Given the description of an element on the screen output the (x, y) to click on. 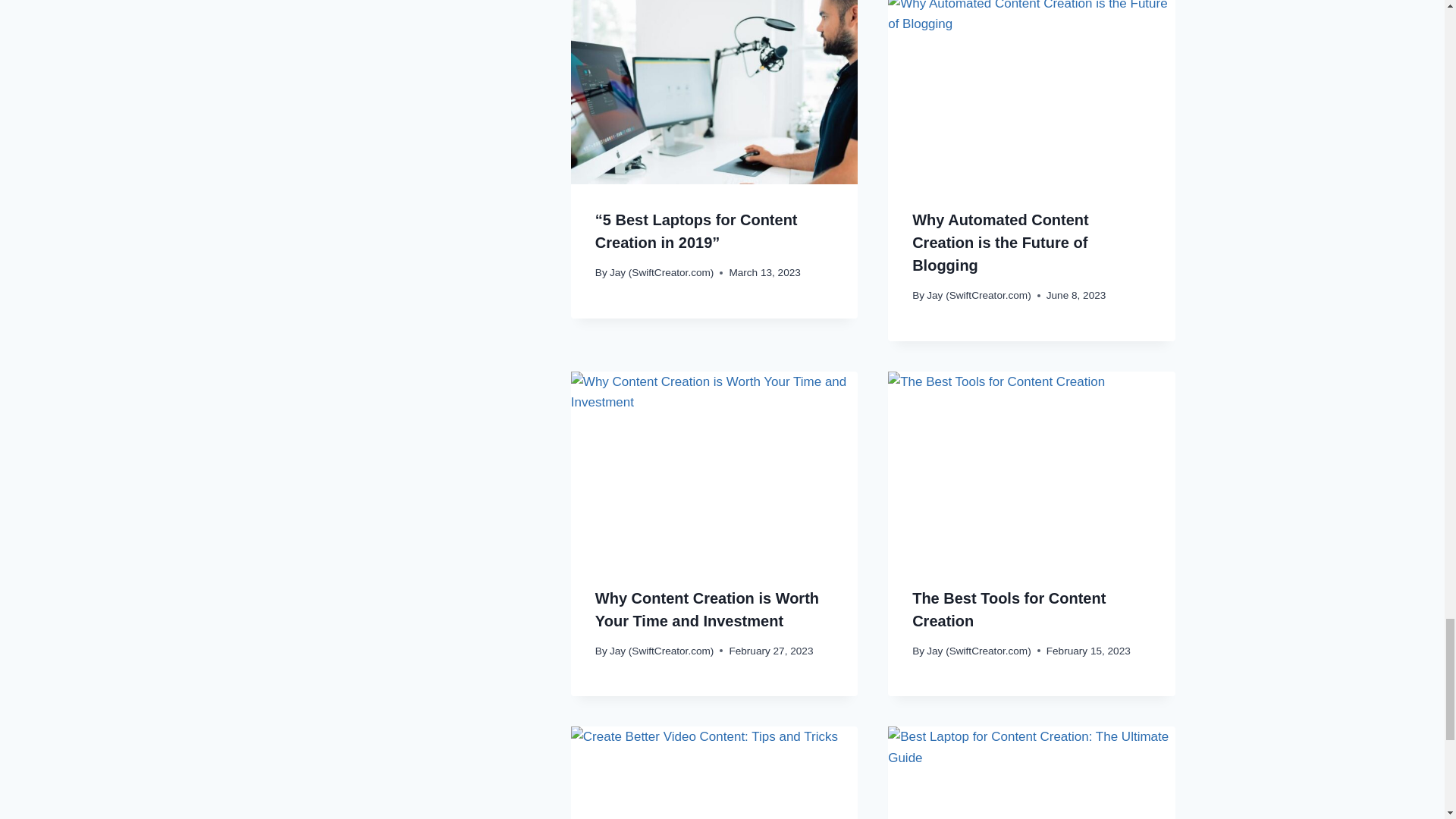
Why Automated Content Creation is the Future of Blogging (1000, 242)
Why Content Creation is Worth Your Time and Investment (706, 609)
The Best Tools for Content Creation (1008, 609)
